Given the description of an element on the screen output the (x, y) to click on. 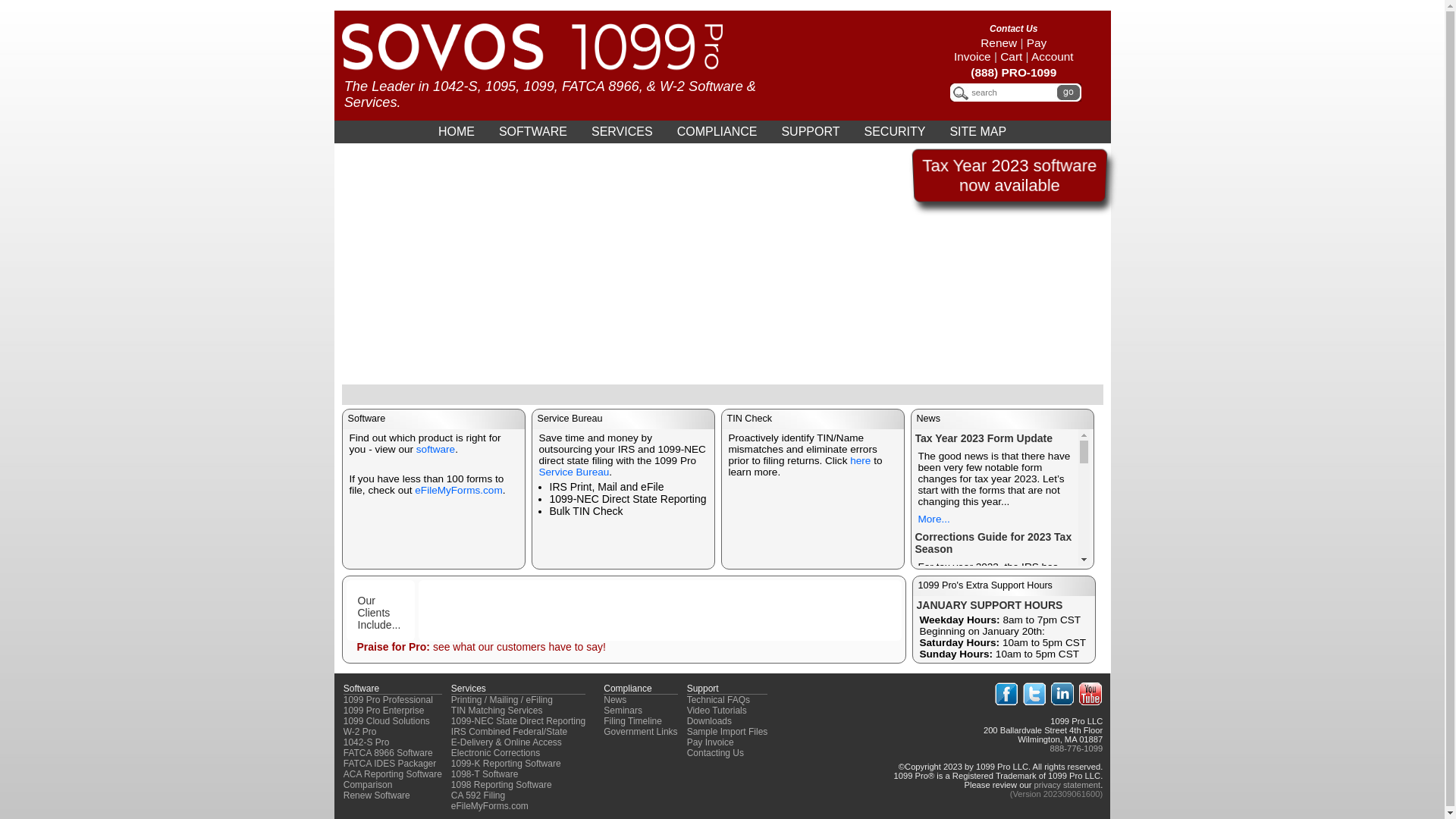
1099 Cloud Solutions Element type: text (386, 720)
E-Delivery & Online Access Element type: text (506, 742)
SITE MAP Element type: text (977, 131)
888-776-1099 Element type: text (1076, 748)
Comparison Element type: text (367, 784)
Tax Year 2023 software
now available Element type: text (1008, 175)
Compliance Element type: text (627, 688)
1099-K Reporting Software Element type: text (506, 763)
eFileMyForms.com Element type: text (489, 805)
ACA Reporting Software Element type: text (392, 773)
Contact Us Element type: text (1013, 28)
SUPPORT Element type: text (809, 131)
Account Element type: text (1052, 56)
HOME Element type: text (456, 131)
IRS Combined Federal/State Element type: text (509, 731)
software Element type: text (435, 449)
Renew Software Element type: text (376, 795)
Printing / Mailing / eFiling Element type: text (501, 699)
Software Element type: text (361, 688)
TIN Matching Services Element type: text (496, 710)
eFileMyForms.com Element type: text (458, 489)
Support Element type: text (702, 688)
FATCA IDES Packager Element type: text (389, 763)
COMPLIANCE Element type: text (716, 131)
Renew Element type: text (998, 42)
Contacting Us Element type: text (715, 752)
Cart Element type: text (1011, 56)
More... Element type: text (933, 518)
Praise for Pro: see what our customers have to say! Element type: text (480, 646)
here Element type: text (860, 460)
Government Links Element type: text (640, 731)
Seminars Element type: text (622, 710)
Technical FAQs Element type: text (718, 699)
Filing Timeline Element type: text (632, 720)
News Element type: text (614, 699)
More... Element type: text (933, 740)
privacy statement Element type: text (1066, 784)
SERVICES Element type: text (622, 131)
SOFTWARE Element type: text (532, 131)
FATCA 8966 Software Element type: text (388, 752)
1099 Pro Enterprise Element type: text (383, 710)
1099-NEC State Direct Reporting Element type: text (518, 720)
Services Element type: text (468, 688)
Electronic Corrections Element type: text (495, 752)
SECURITY Element type: text (894, 131)
Video Tutorials Element type: text (716, 710)
Service Bureau Element type: text (573, 471)
CA 592 Filing Element type: text (478, 795)
Pay Invoice Element type: text (999, 49)
1098-T Software Element type: text (484, 773)
Sample Import Files Element type: text (727, 731)
(888) PRO-1099 Element type: text (1013, 71)
More... Element type: text (933, 606)
Pay Invoice Element type: text (710, 742)
1099 Pro Professional Element type: text (388, 699)
1098 Reporting Software Element type: text (501, 784)
1042-S Pro Element type: text (366, 742)
Downloads Element type: text (709, 720)
W-2 Pro Element type: text (359, 731)
